Given the description of an element on the screen output the (x, y) to click on. 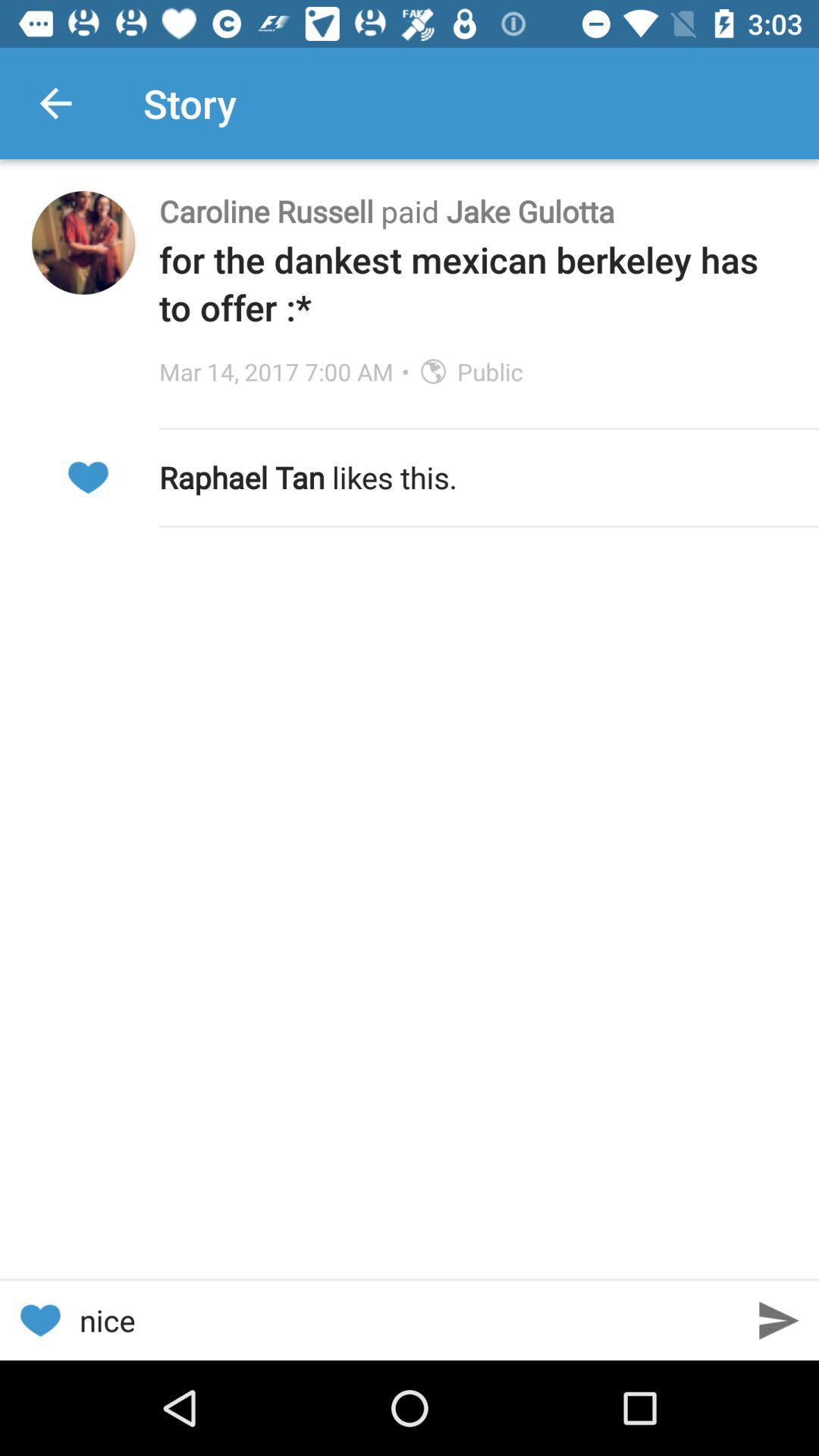
go to next (779, 1320)
